Given the description of an element on the screen output the (x, y) to click on. 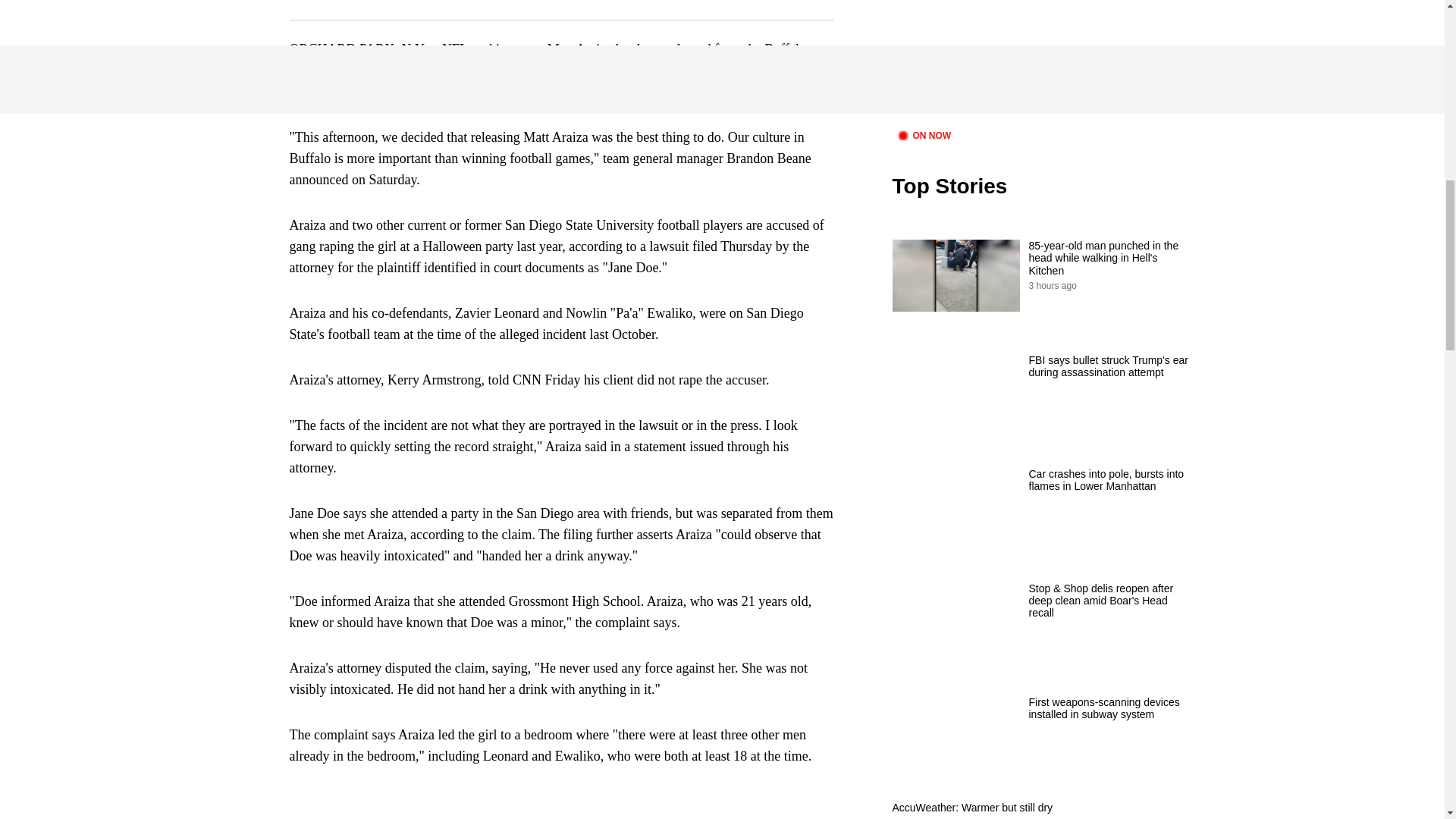
video.title (1043, 62)
